Given the description of an element on the screen output the (x, y) to click on. 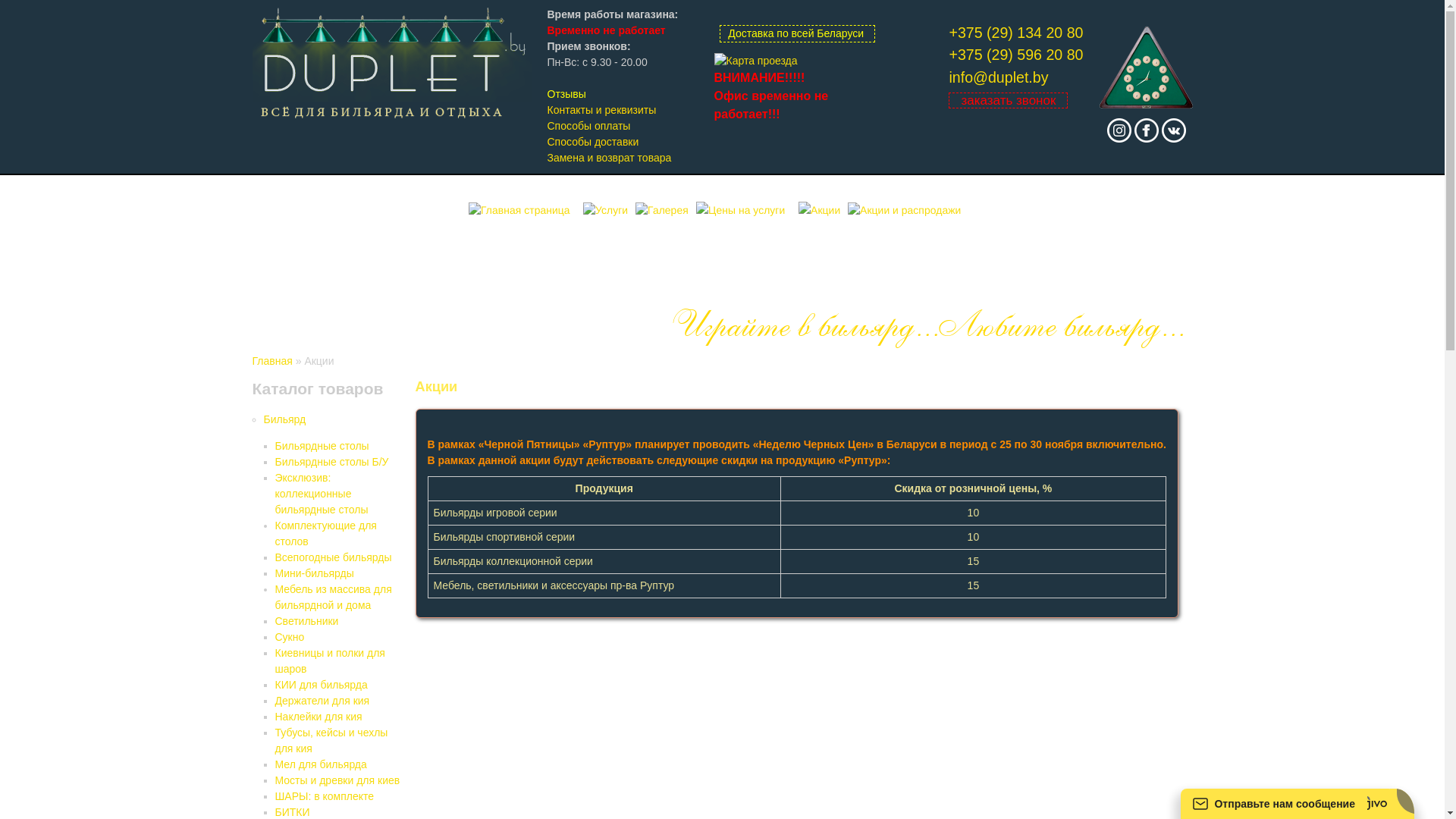
+375 (29) 596 20 80 Element type: text (1015, 54)
+375 (29) 134 20 80 Element type: text (1015, 32)
info@duplet.by Element type: text (998, 77)
